Given the description of an element on the screen output the (x, y) to click on. 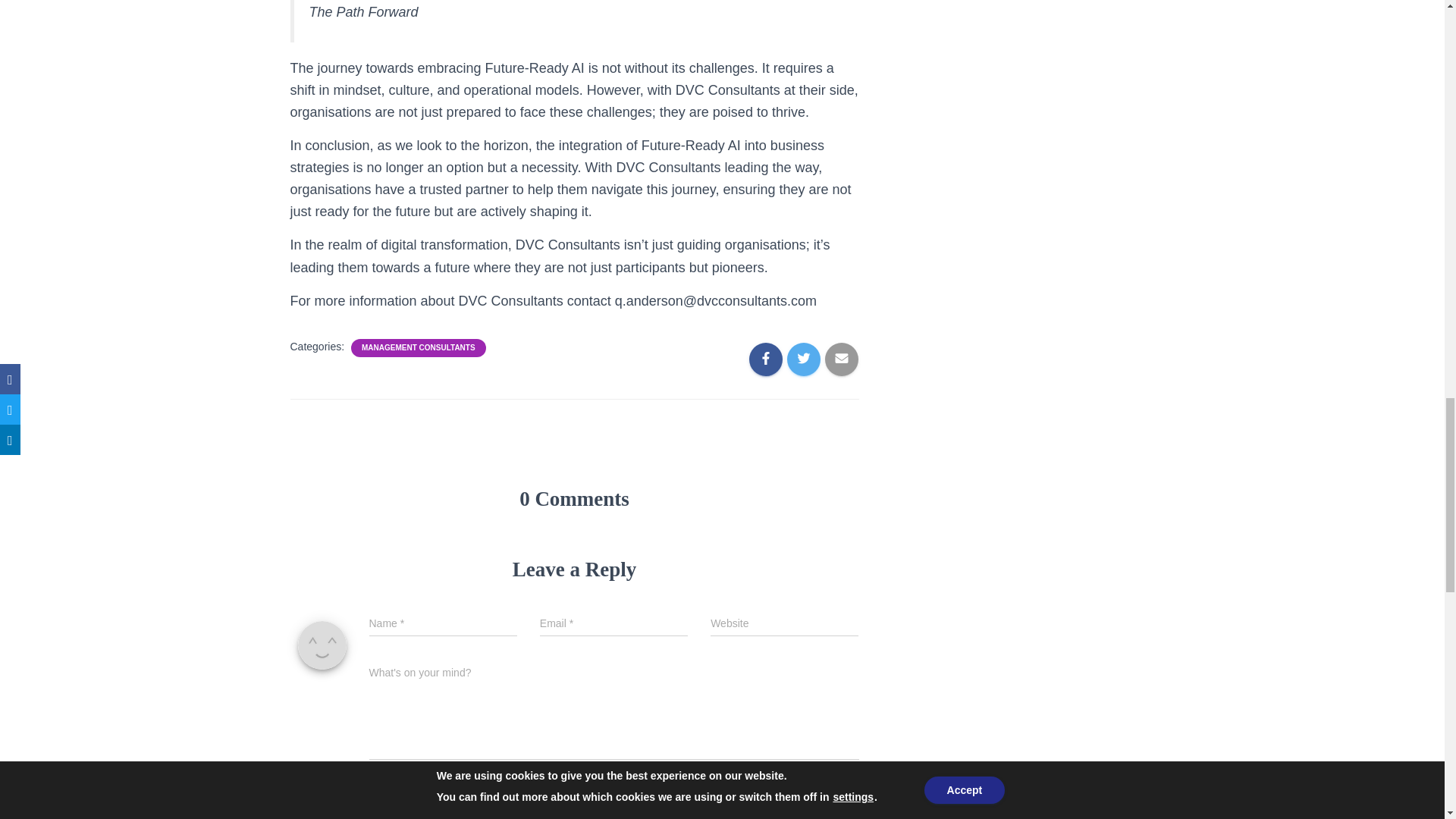
MANAGEMENT CONSULTANTS (418, 347)
Post Comment (796, 804)
Post Comment (796, 804)
